Given the description of an element on the screen output the (x, y) to click on. 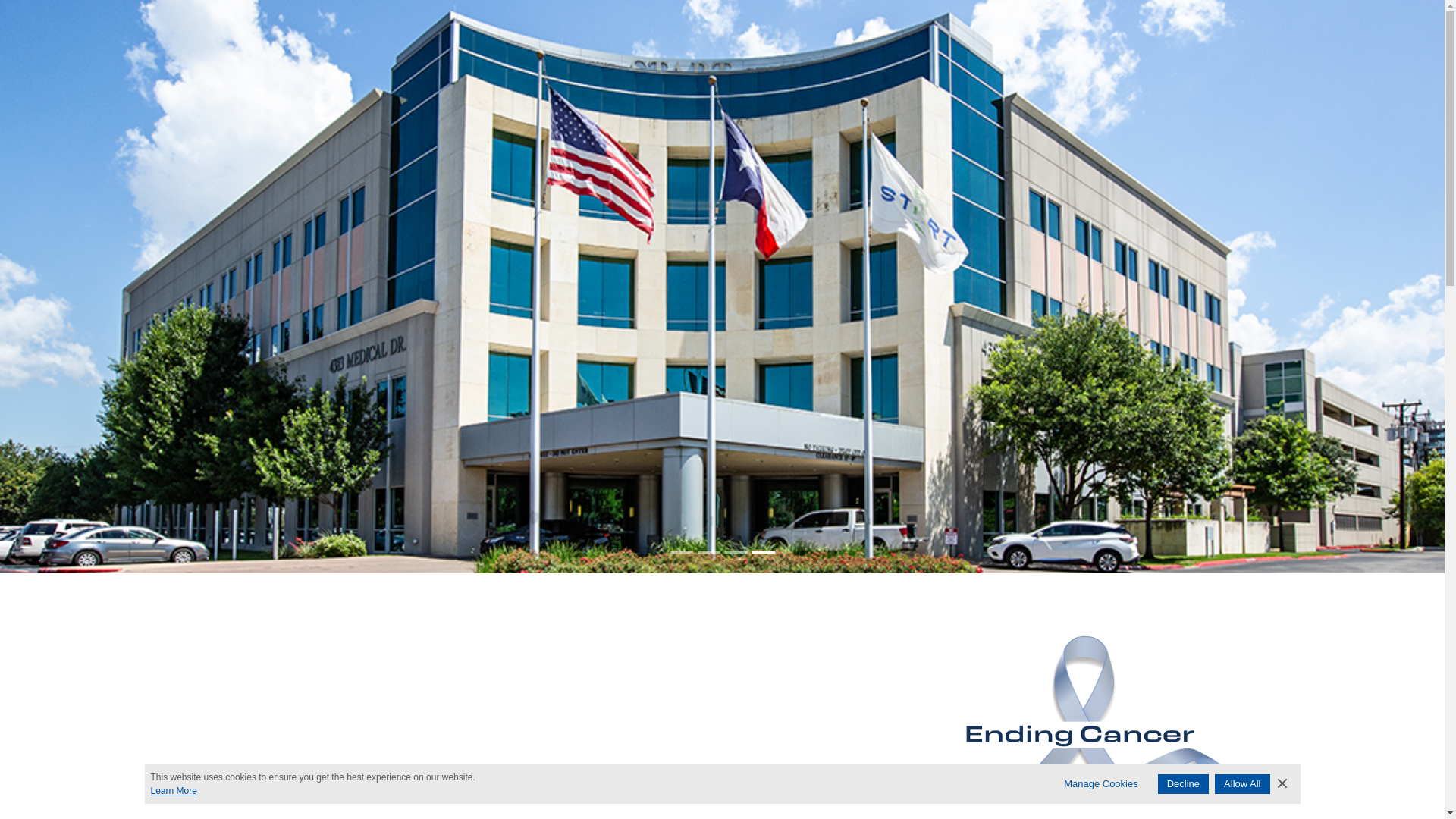
Decline (1182, 772)
Dismiss Banner (1280, 772)
Learn More (595, 779)
Manage Cookies (1101, 772)
South Texas Oncology Cyber Security Breach Notification (722, 608)
Allow All (1241, 772)
